Given the description of an element on the screen output the (x, y) to click on. 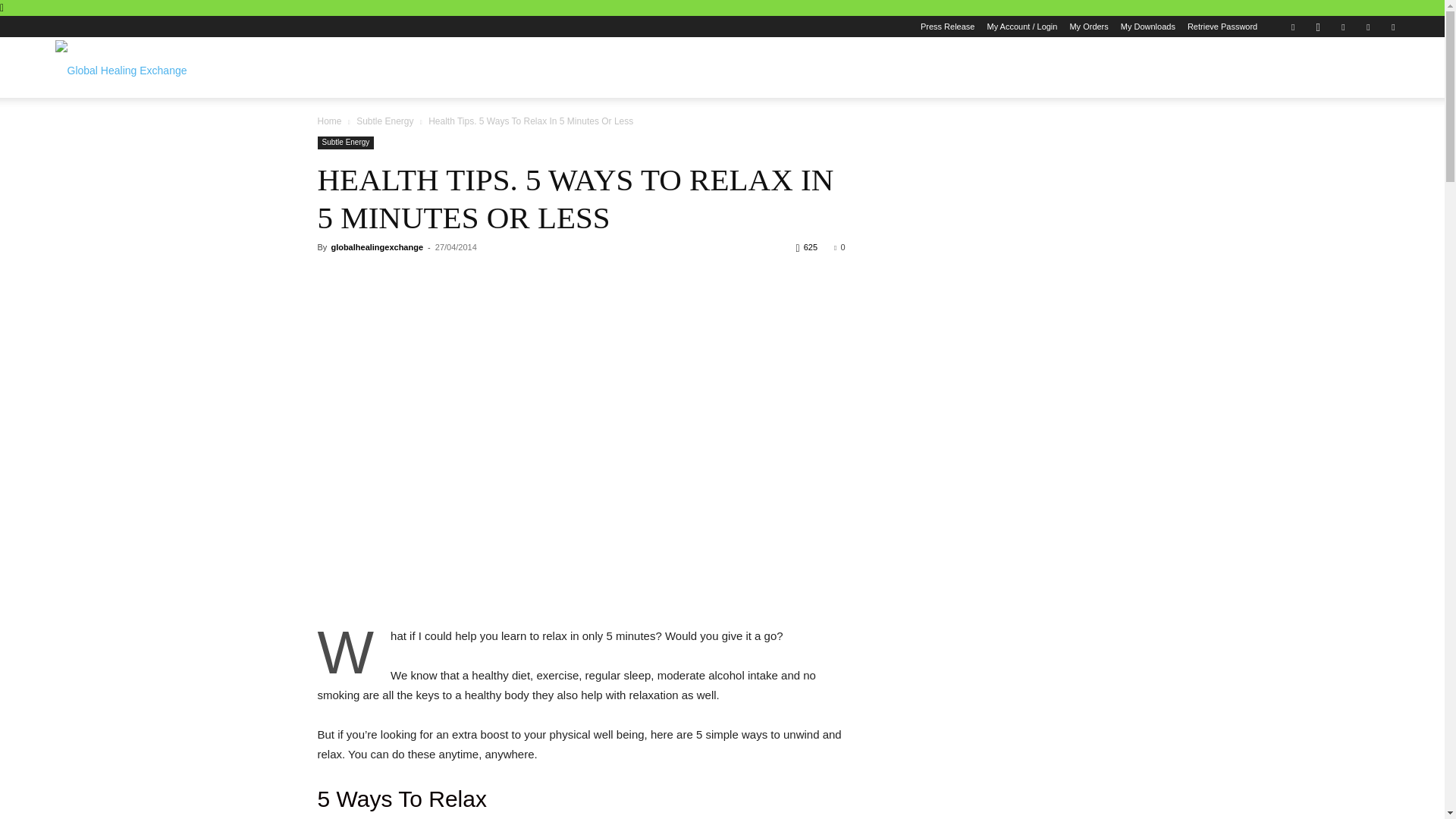
Pinterest (1343, 25)
Youtube (1393, 25)
Twitter (1367, 25)
Instagram (1317, 25)
A Holistic Approach To Health And Wellbeing (120, 67)
View all posts in Subtle Energy (384, 121)
Facebook (1292, 25)
